Given the description of an element on the screen output the (x, y) to click on. 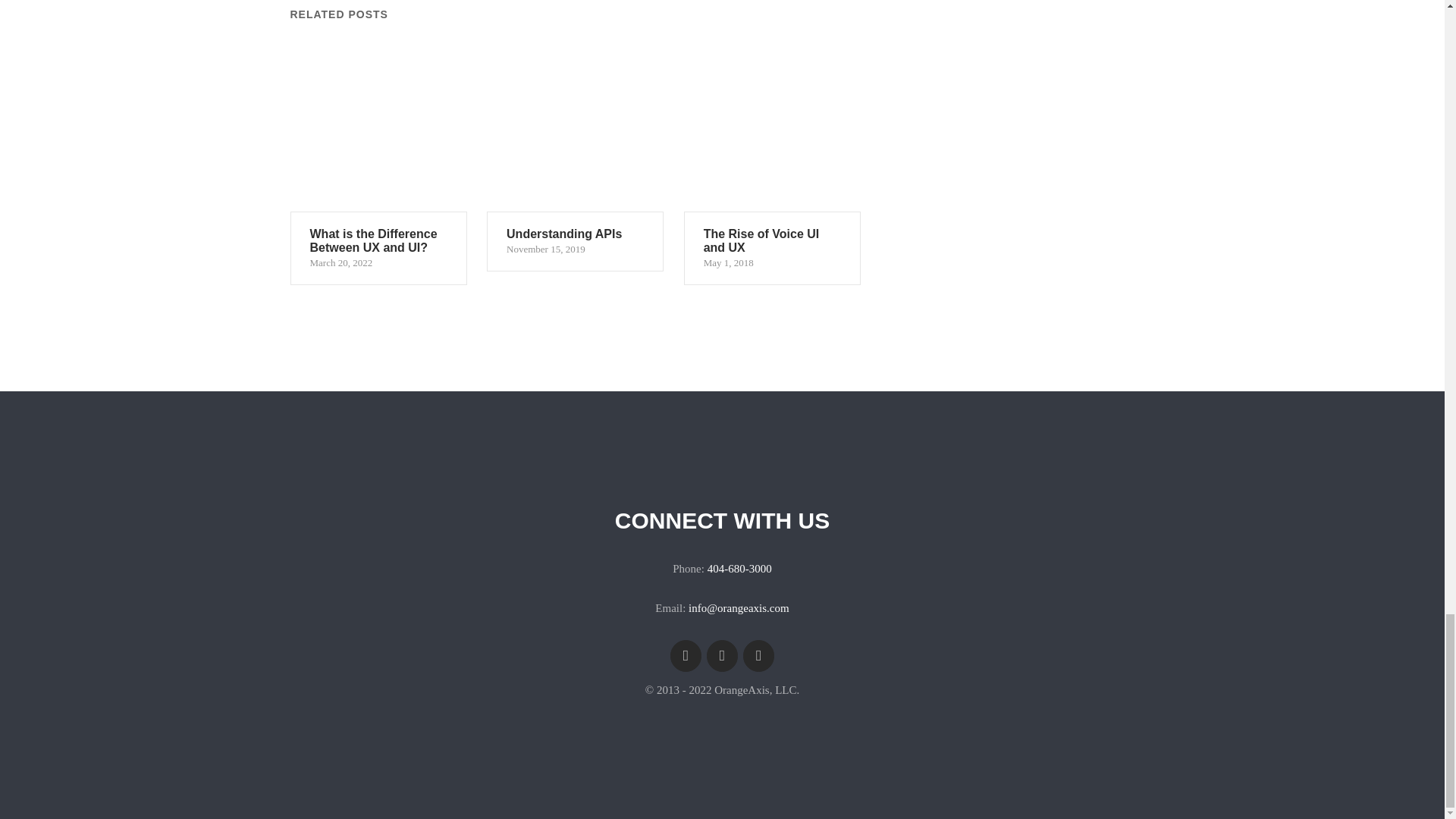
404-680-3000 (739, 568)
